Given the description of an element on the screen output the (x, y) to click on. 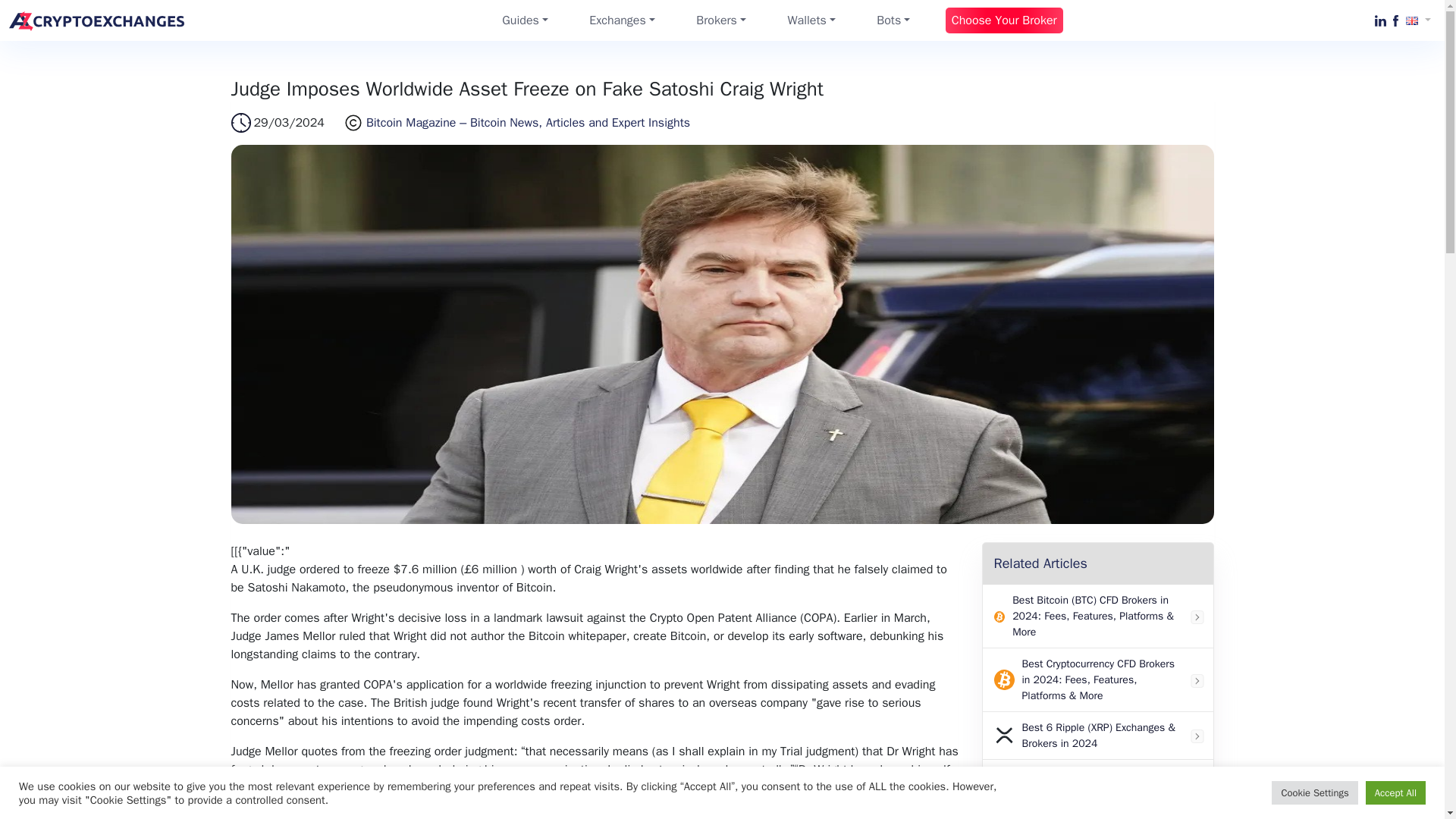
Guides (525, 20)
